Given the description of an element on the screen output the (x, y) to click on. 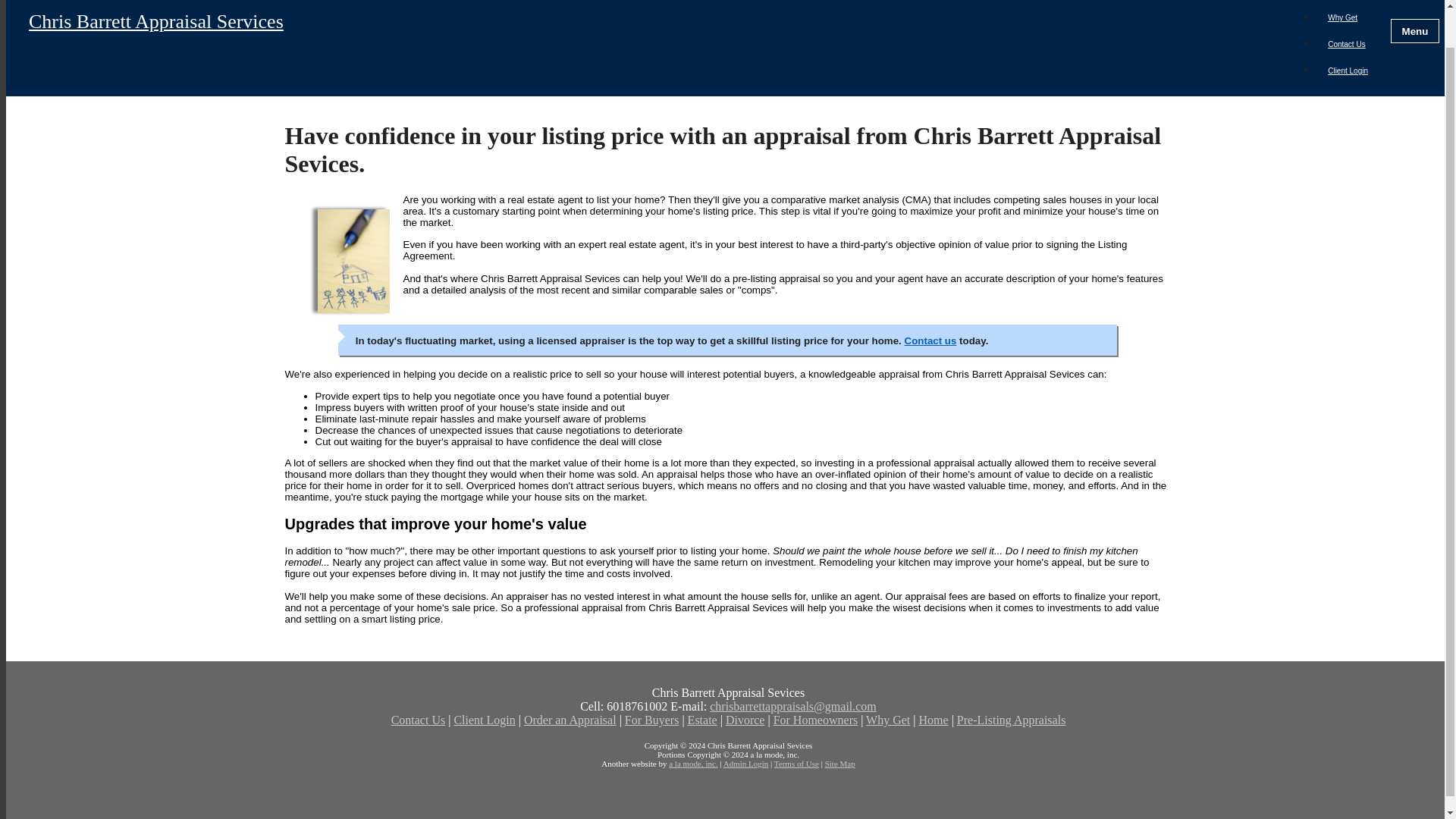
Menu (1414, 30)
Admin Login (745, 763)
Chris Barrett Appraisal Services (655, 30)
Home (933, 719)
Site Map (840, 763)
Divorce (745, 719)
a la mode, inc. (692, 763)
Pre-Listing Appraisals (1010, 719)
For Buyers (651, 719)
Why Get (888, 719)
Why Get (1342, 17)
Client Login (1347, 70)
For Homeowners (816, 719)
Estate (702, 719)
Contact Us (1345, 43)
